Given the description of an element on the screen output the (x, y) to click on. 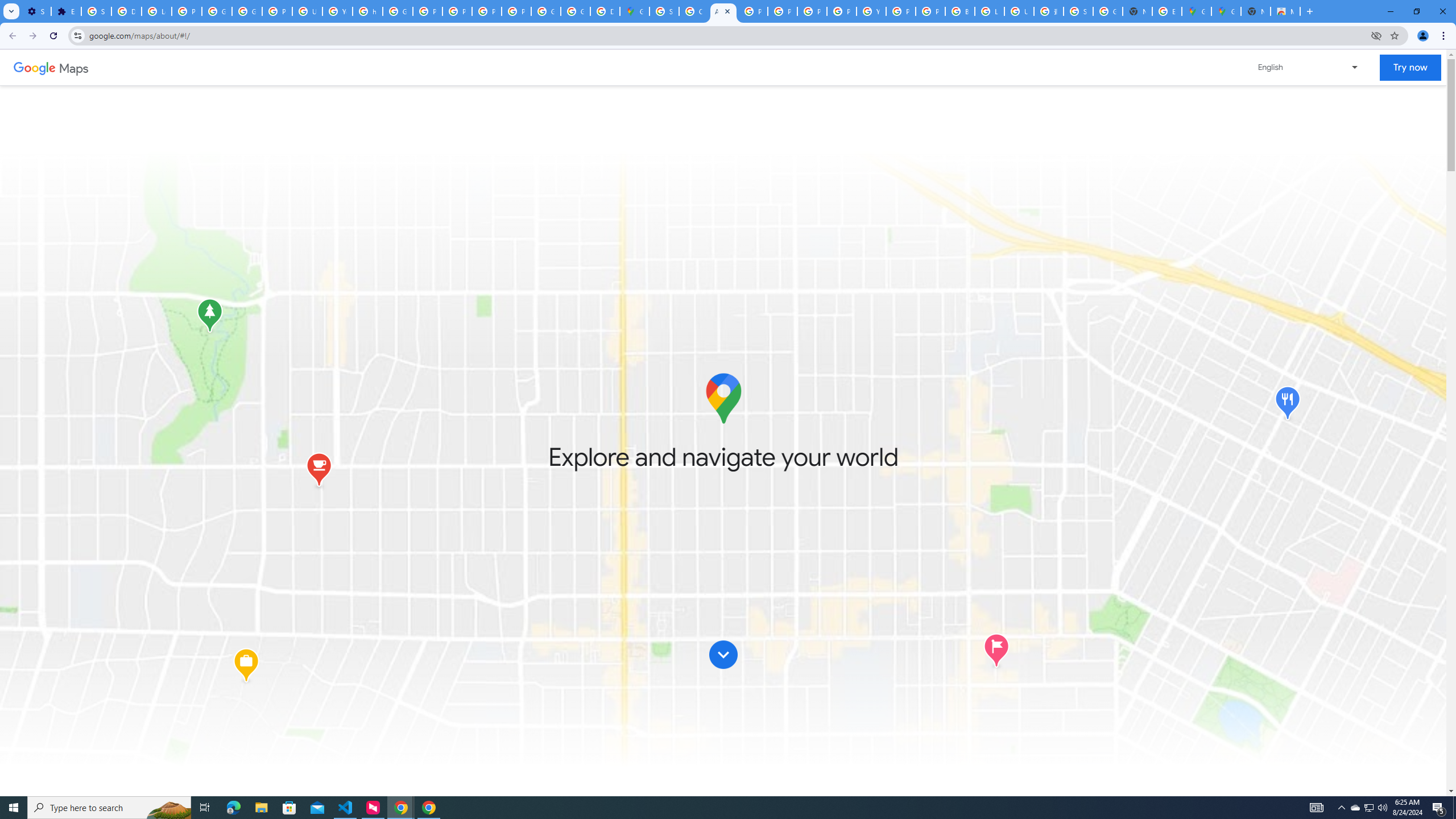
Google Maps (634, 11)
Sign in - Google Accounts (1077, 11)
Sign in - Google Accounts (664, 11)
Delete photos & videos - Computer - Google Photos Help (126, 11)
